Given the description of an element on the screen output the (x, y) to click on. 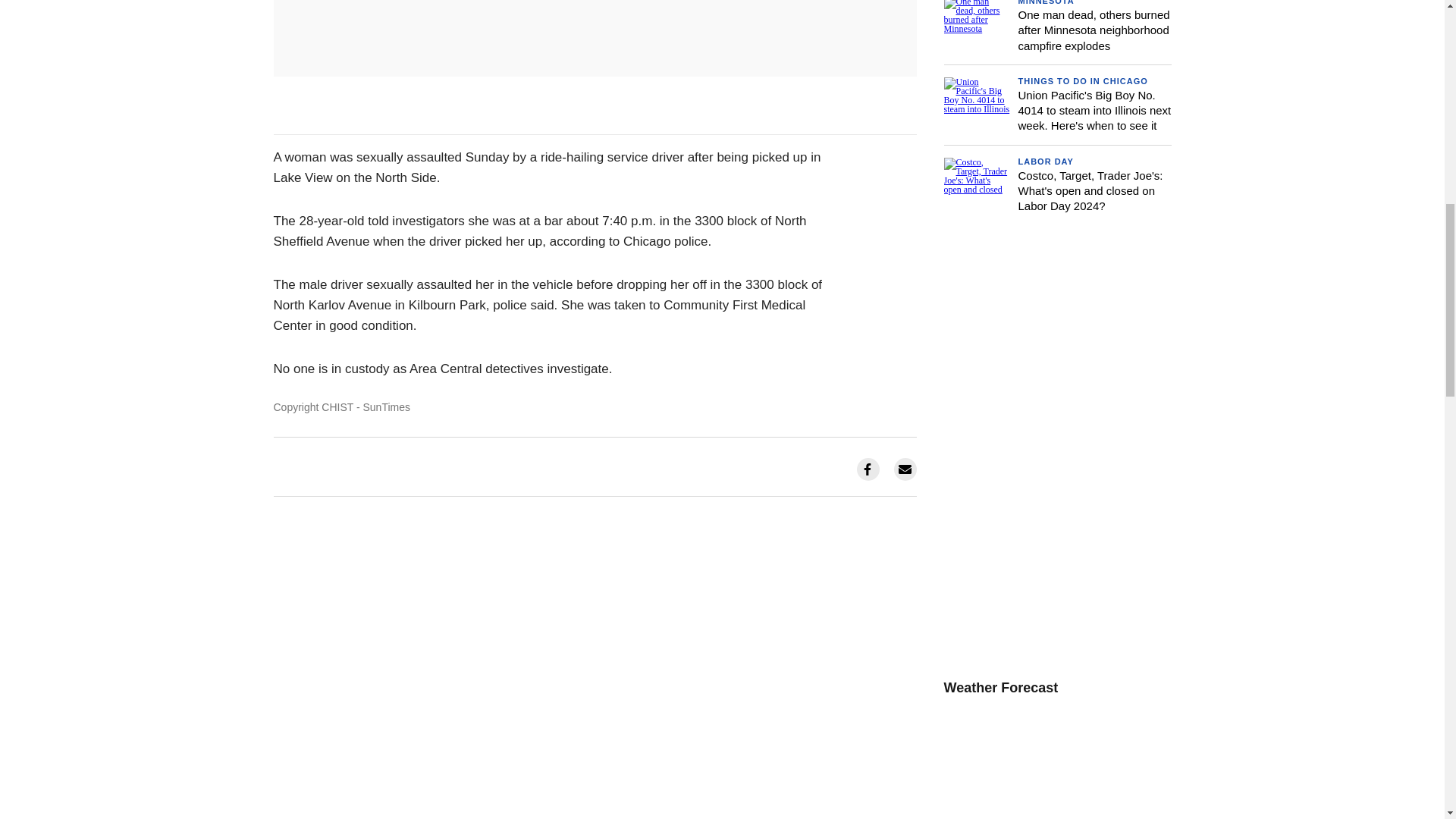
THINGS TO DO IN CHICAGO (1082, 80)
MINNESOTA (1045, 2)
LABOR DAY (1045, 160)
